Given the description of an element on the screen output the (x, y) to click on. 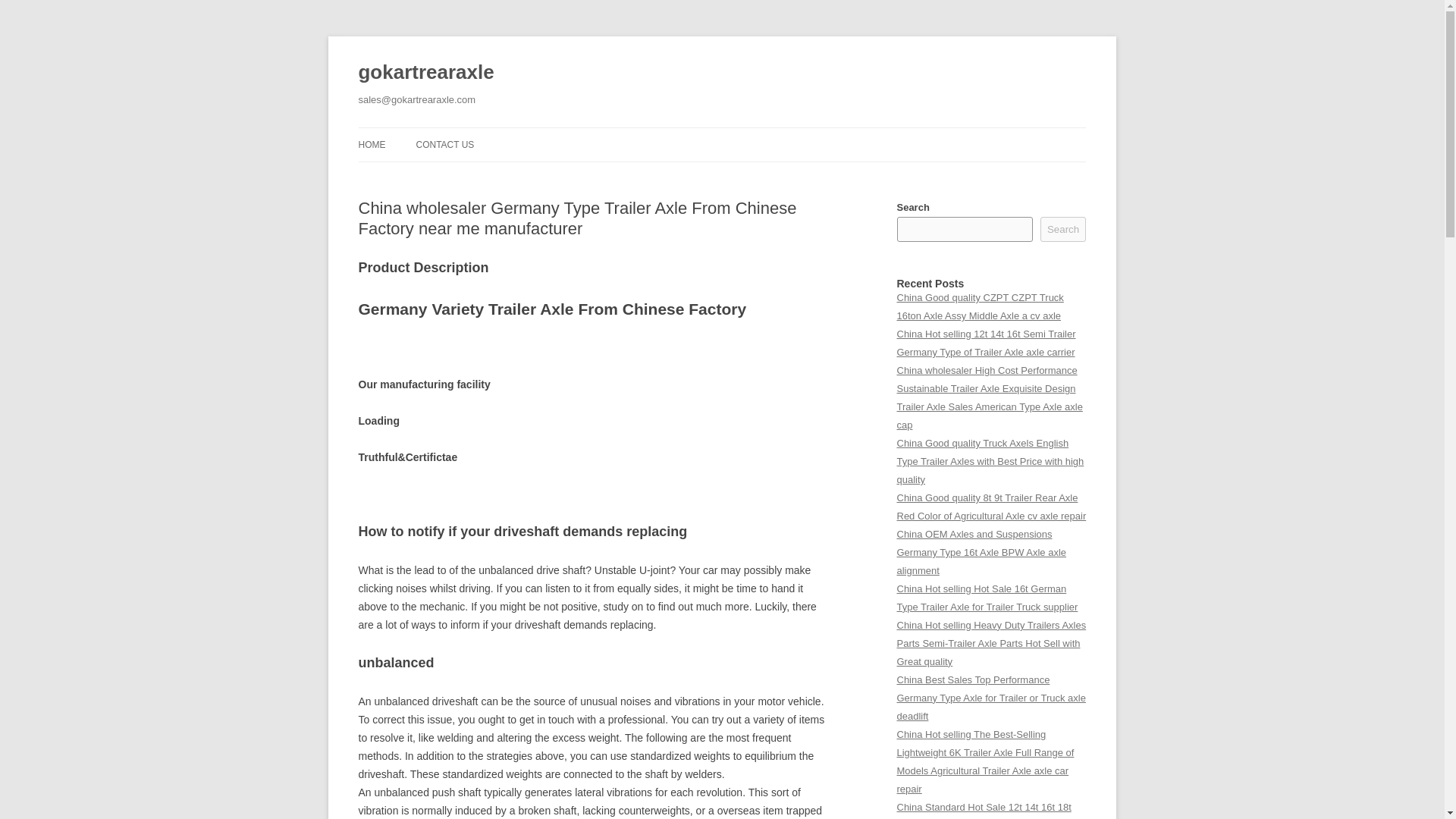
Search (1063, 229)
gokartrearaxle (425, 72)
gokartrearaxle (425, 72)
CONTACT US (444, 144)
